Given the description of an element on the screen output the (x, y) to click on. 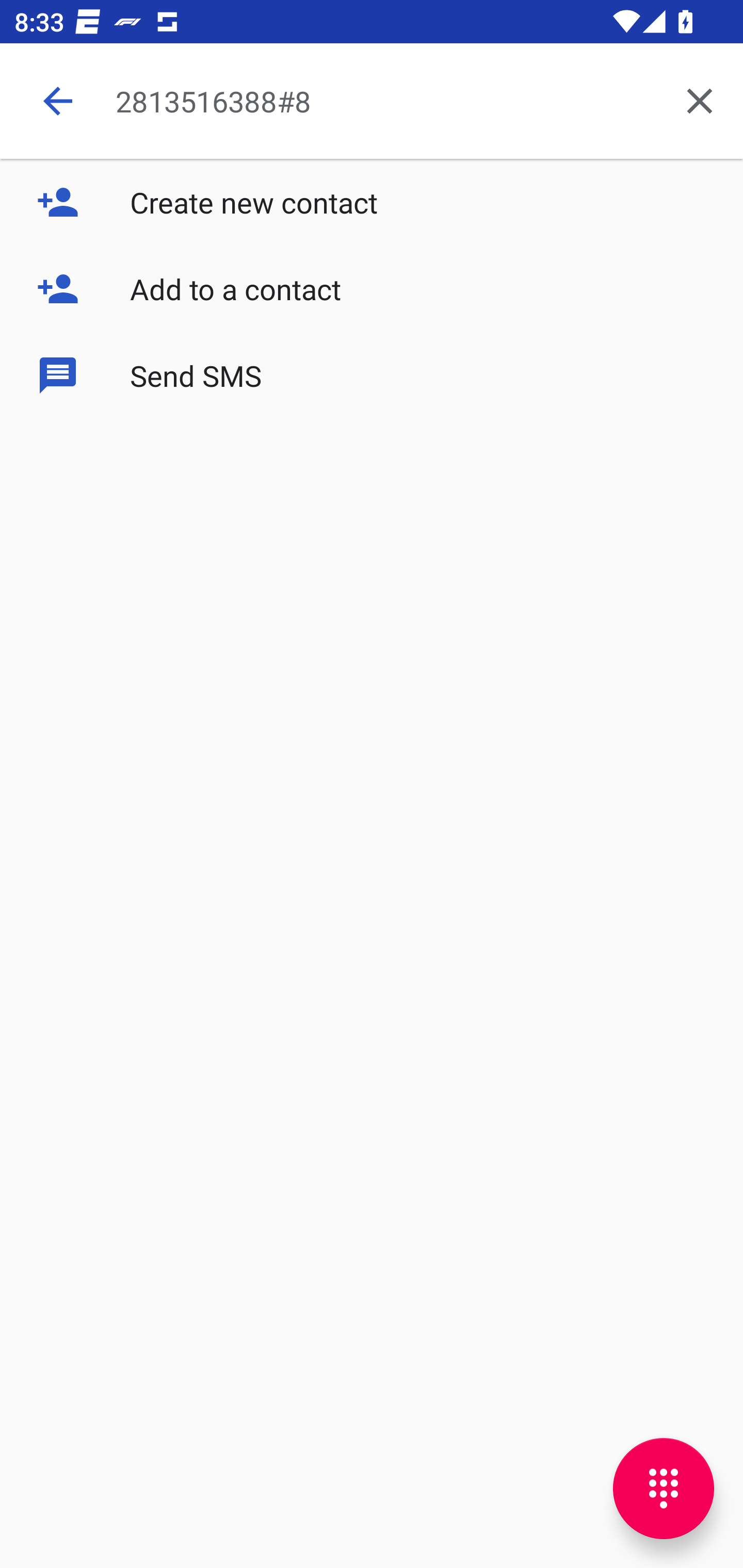
stop searching (57, 101)
2813516388#8 (385, 101)
Clear search (699, 101)
Create new contact (371, 202)
Add to a contact (371, 289)
Send SMS (371, 375)
key pad (663, 1488)
